Given the description of an element on the screen output the (x, y) to click on. 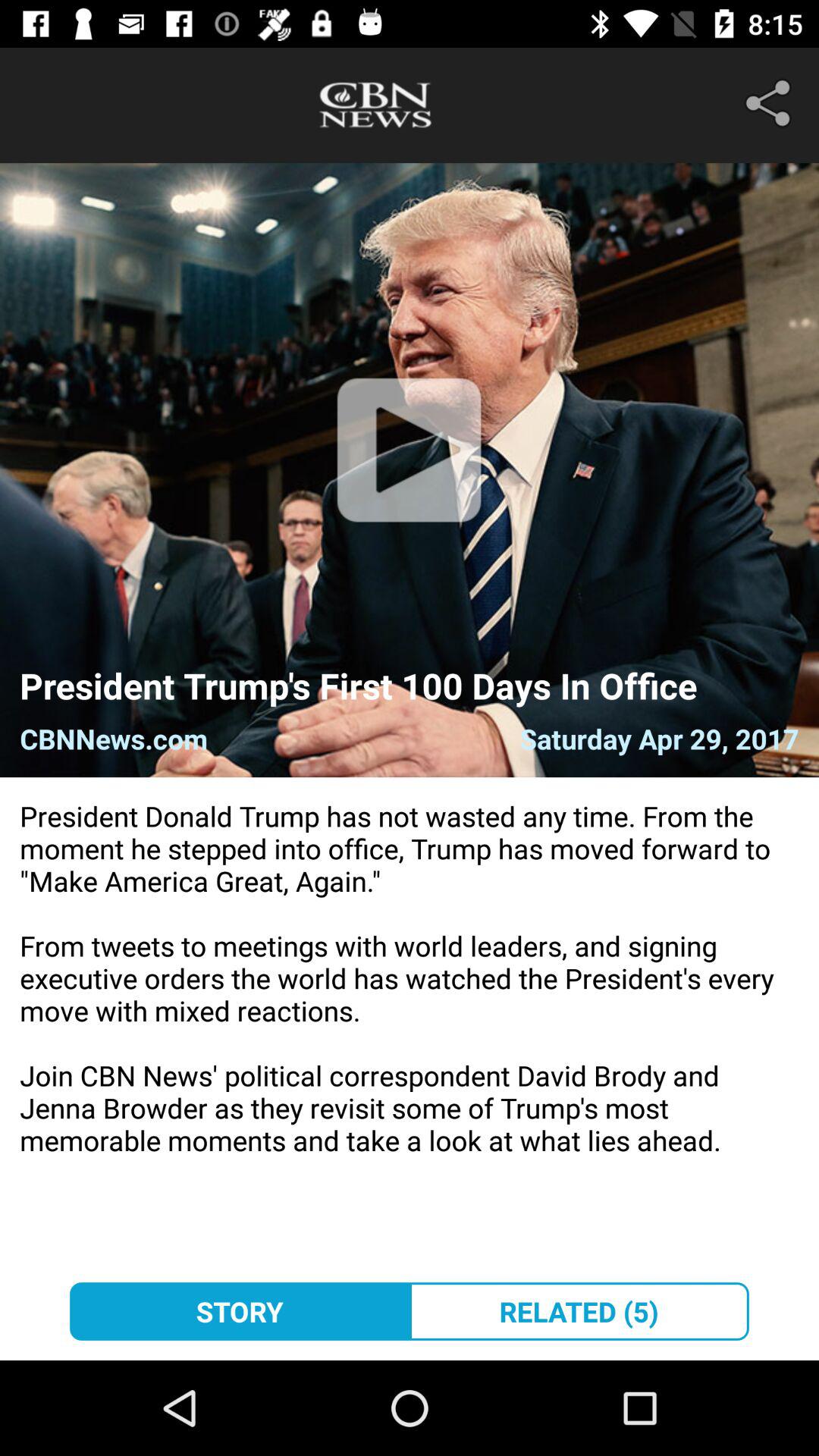
turn on the icon next to story icon (579, 1311)
